Given the description of an element on the screen output the (x, y) to click on. 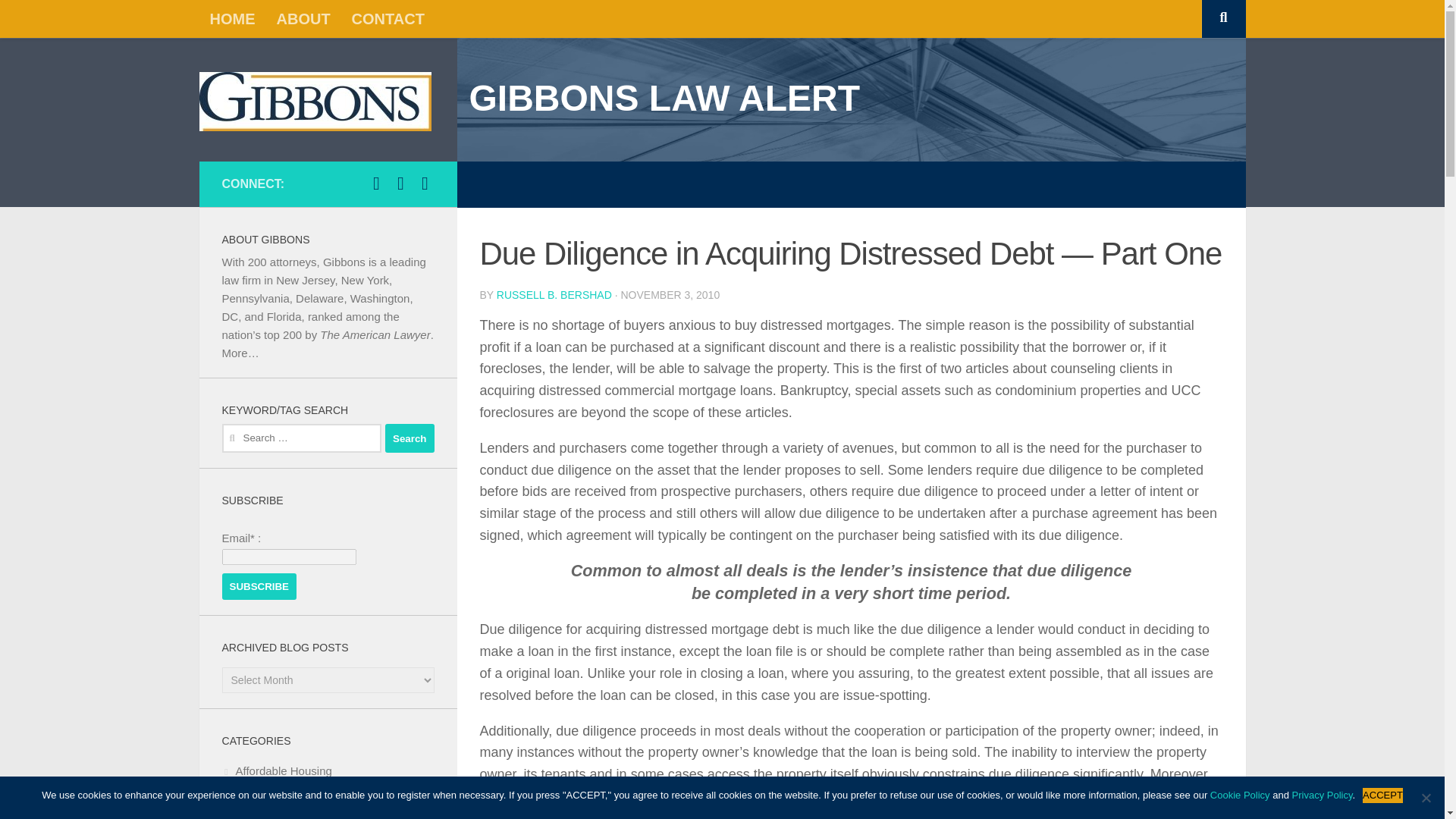
Posts by Russell B. Bershad (553, 295)
Contact Us Via Email (423, 183)
RUSSELL B. BERSHAD (553, 295)
Skip to content (63, 20)
No (1425, 797)
Follow Gibbons on LinkedIn (375, 183)
Search (409, 438)
Follow Gibbons on Twitter (400, 183)
ABOUT (302, 18)
CONTACT (387, 18)
SUBSCRIBE (259, 586)
Search (409, 438)
HOME (231, 18)
